Given the description of an element on the screen output the (x, y) to click on. 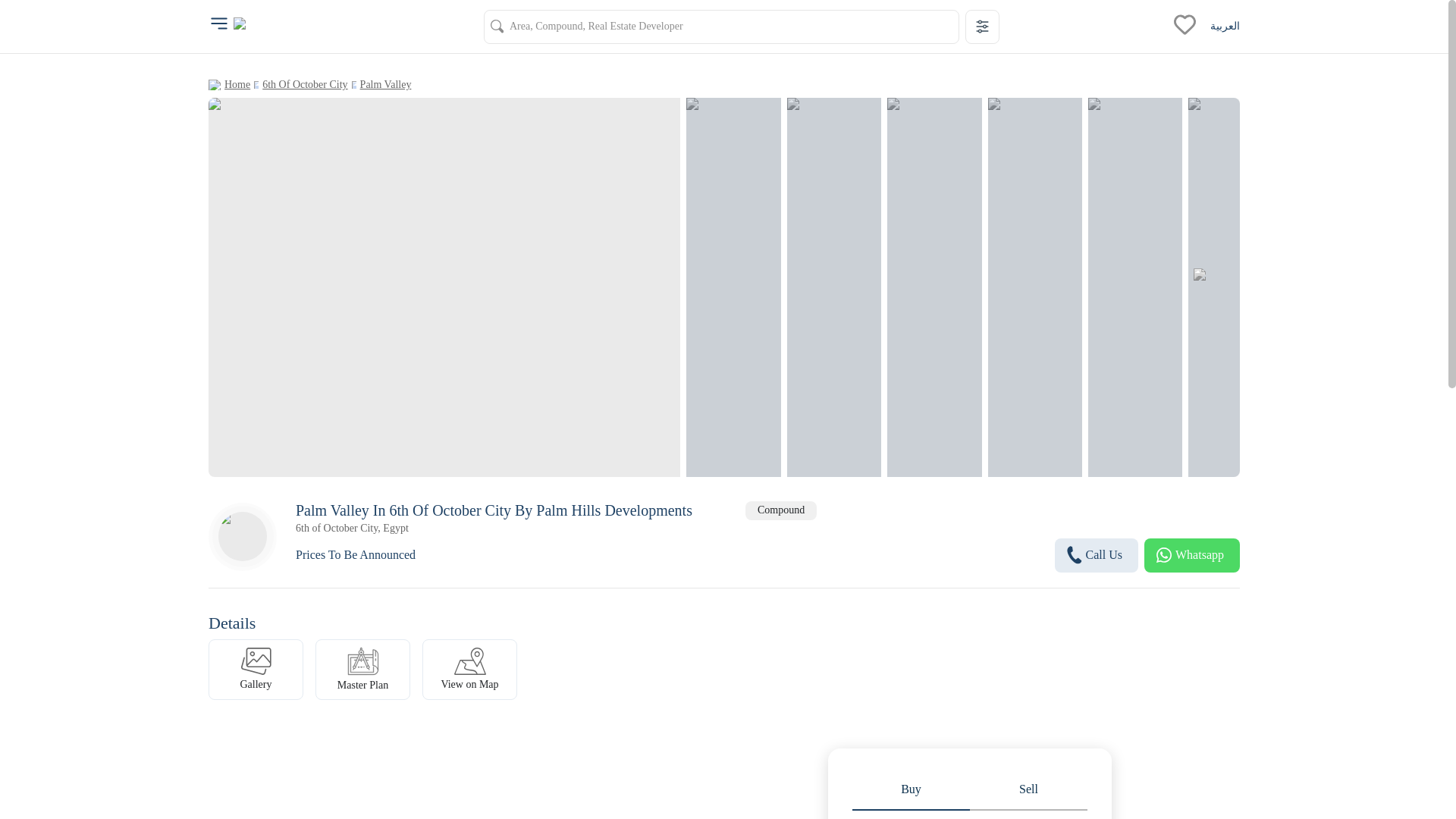
6th Of October City (304, 84)
Home (237, 84)
Palm Valley (385, 84)
Whatsapp (1192, 555)
Call Us (1096, 555)
